Given the description of an element on the screen output the (x, y) to click on. 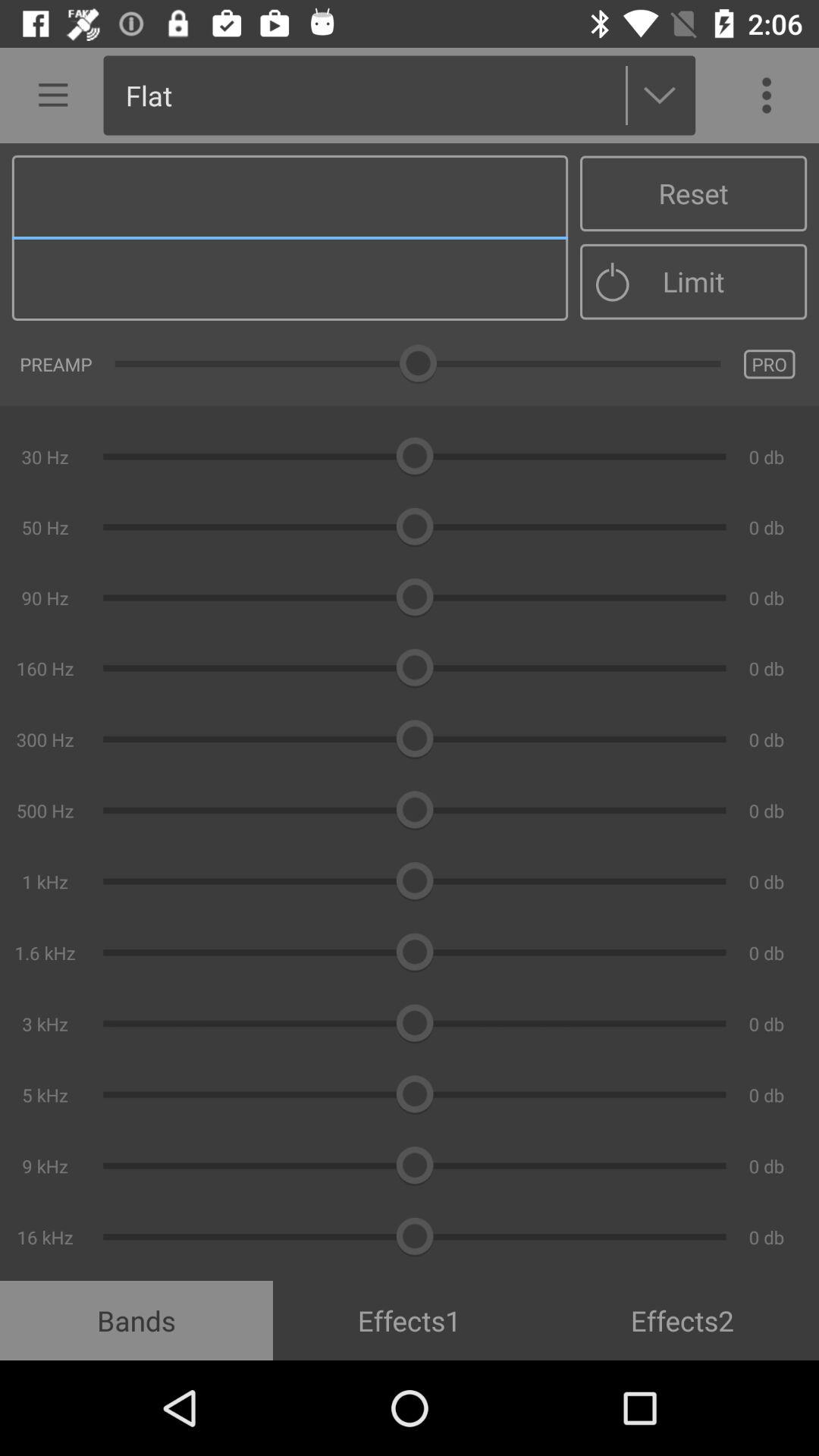
adjust a variety of sound settings (409, 711)
